Given the description of an element on the screen output the (x, y) to click on. 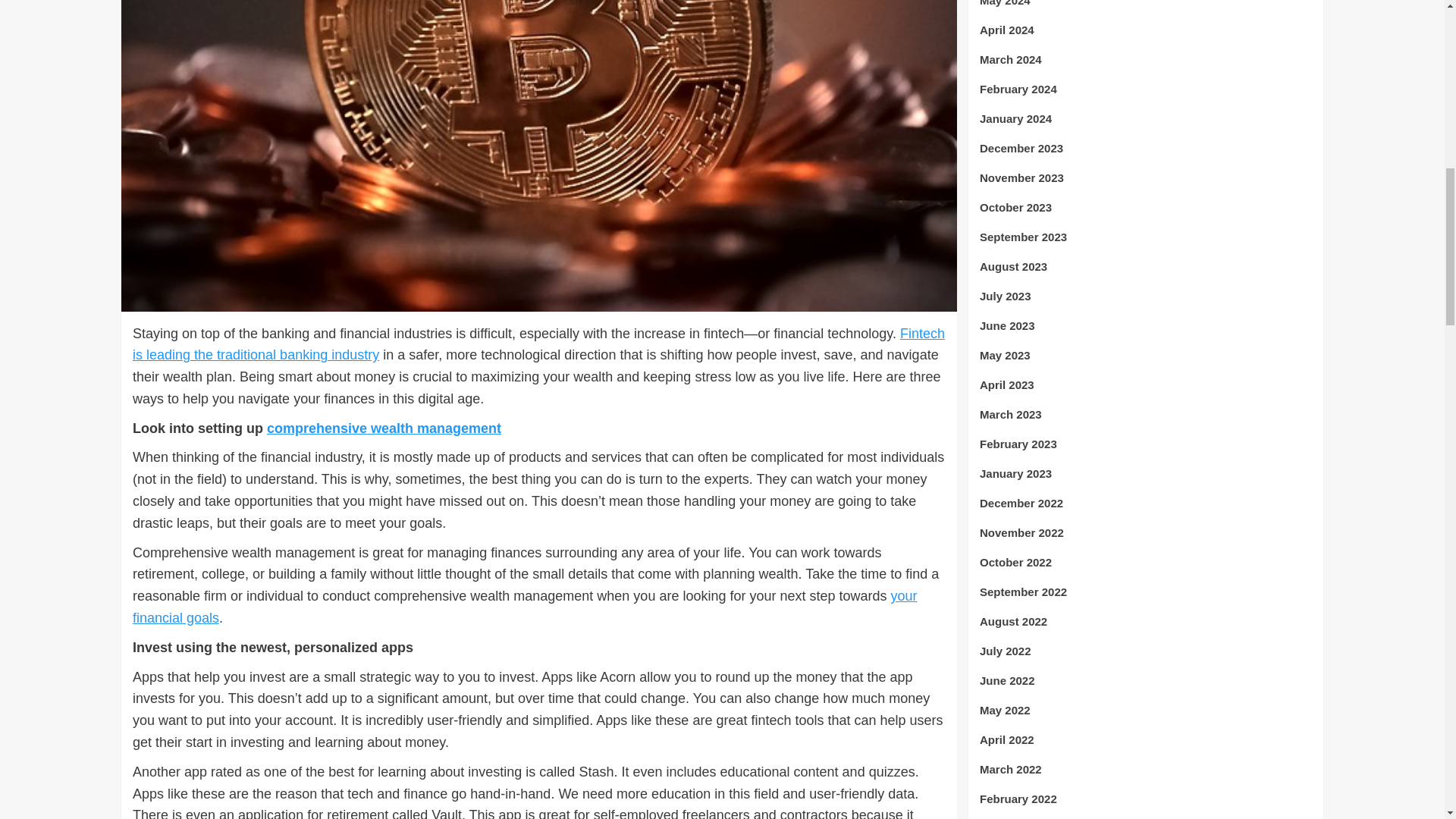
your financial goals (524, 606)
comprehensive wealth management (383, 427)
Fintech is leading the traditional banking industry (538, 344)
